Given the description of an element on the screen output the (x, y) to click on. 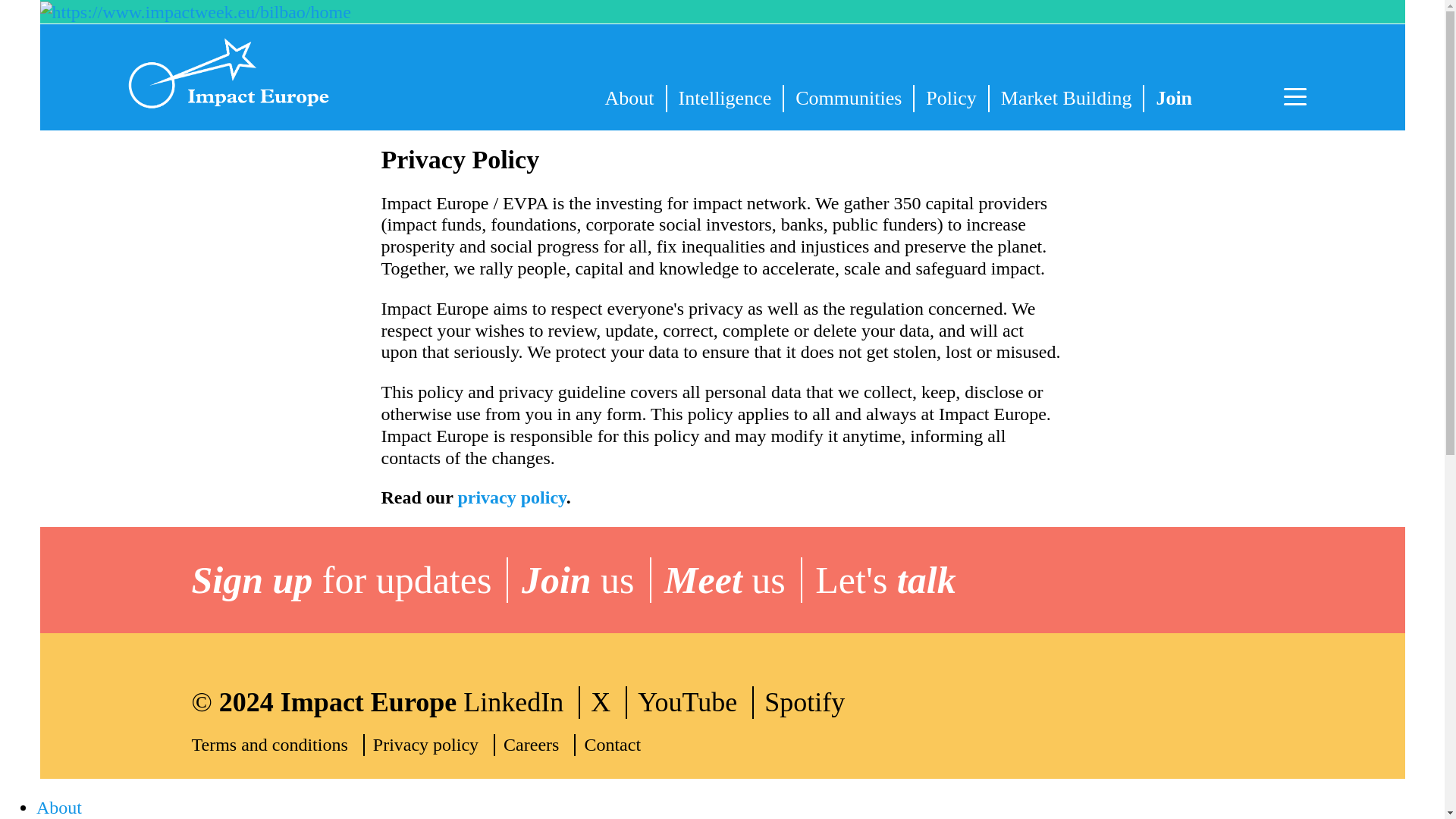
YouTube (695, 702)
Meet us (732, 579)
Let's talk (893, 579)
Join us (585, 579)
privacy policy (511, 496)
Policy (950, 98)
X (609, 702)
Privacy policy (433, 744)
About (628, 98)
Intelligence (724, 98)
Sign up for updates (349, 579)
Terms and conditions (277, 744)
Communities (848, 98)
Join (1174, 98)
